Given the description of an element on the screen output the (x, y) to click on. 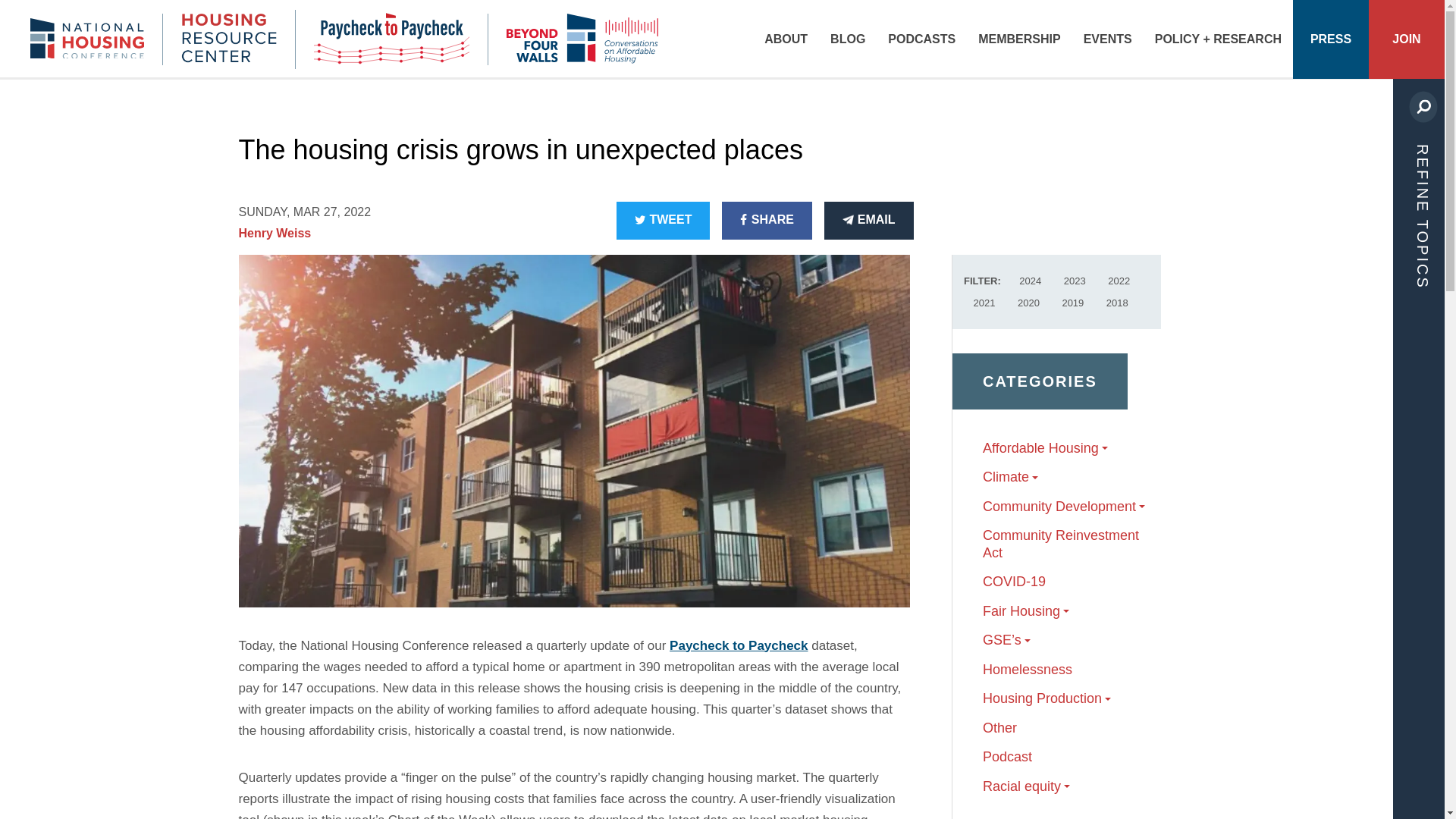
41 items (1030, 280)
46 items (983, 302)
NHC.org (95, 39)
48 items (1119, 280)
MEMBERSHIP (1018, 39)
Posts by Henry Weiss (274, 232)
48 items (1027, 302)
PRESS (1330, 39)
NHC Paycheck-to-paycheck (391, 38)
EVENTS (1106, 39)
PODCASTS (921, 39)
33 items (1116, 302)
47 items (1074, 280)
Housing Research Center (228, 39)
